Given the description of an element on the screen output the (x, y) to click on. 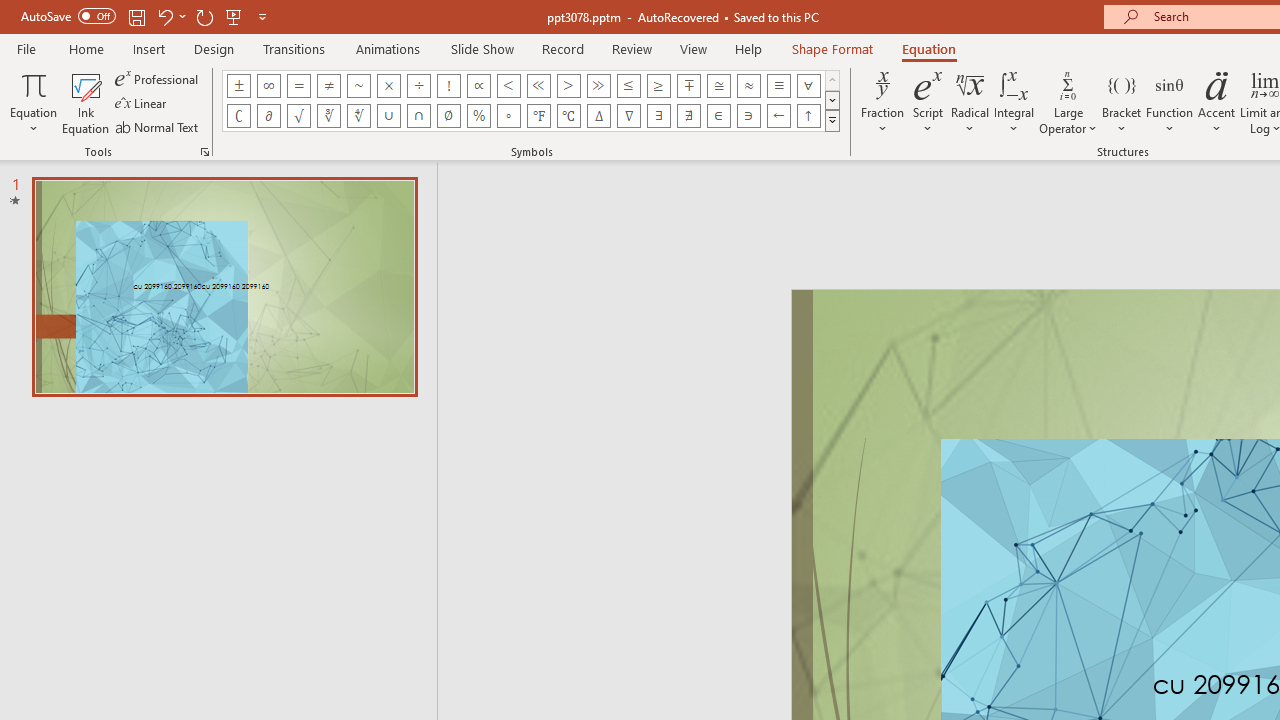
Equation Symbol There Exists (658, 115)
Equation Symbol Plus Minus (238, 85)
Radical (970, 102)
Equation Symbol Much Greater Than (598, 85)
Equation Symbol Fourth Root (358, 115)
Equation Symbol Equal (298, 85)
Equation Symbol Left Arrow (778, 115)
Equation Symbol There Does Not Exist (689, 115)
